Given the description of an element on the screen output the (x, y) to click on. 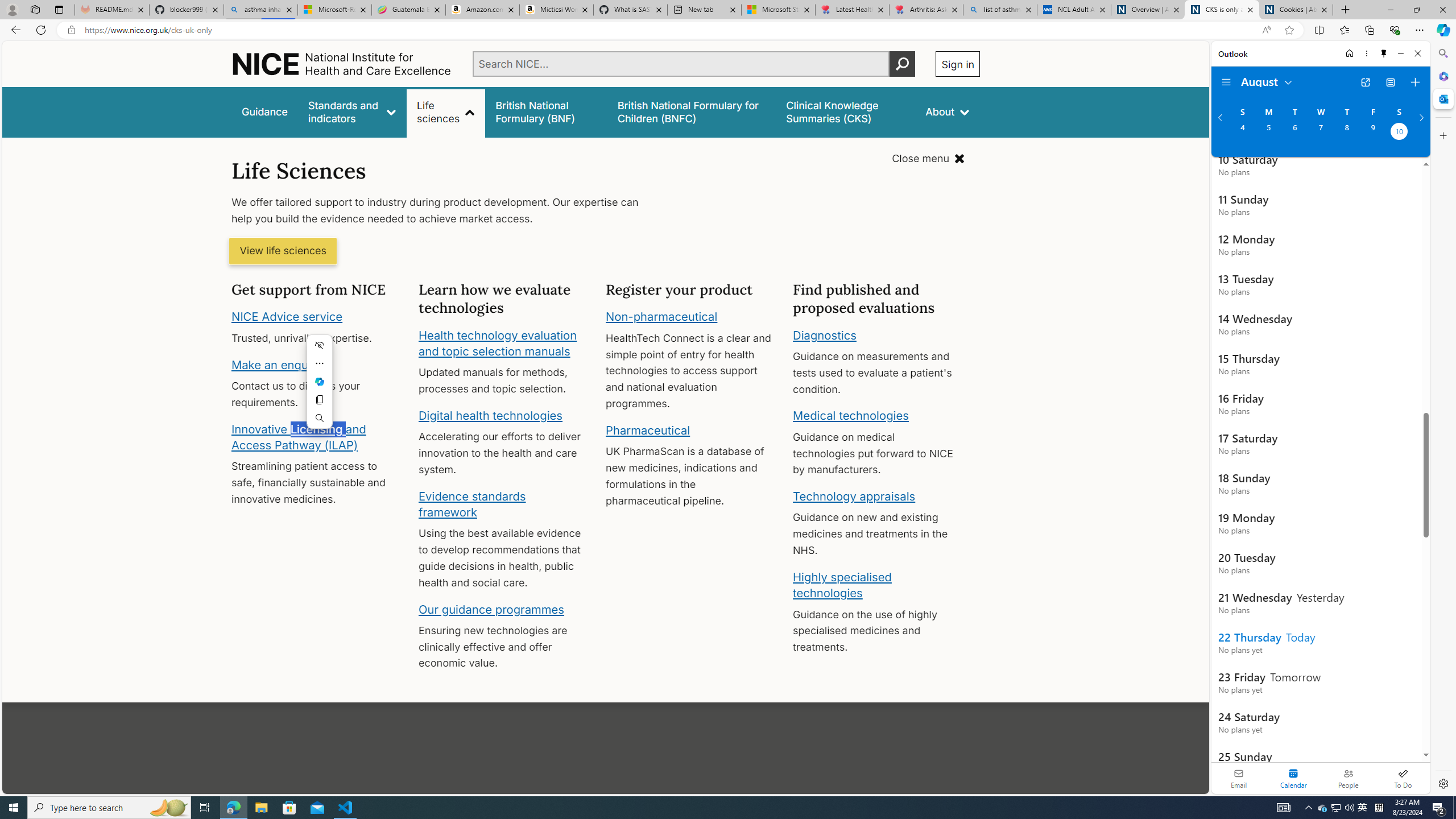
Friday, August 9, 2024.  (1372, 132)
More actions (319, 363)
Life sciences (446, 111)
Folder navigation (1225, 82)
NCL Adult Asthma Inhaler Choice Guideline (1073, 9)
Hide menu (319, 344)
Evidence standards framework (471, 503)
